Given the description of an element on the screen output the (x, y) to click on. 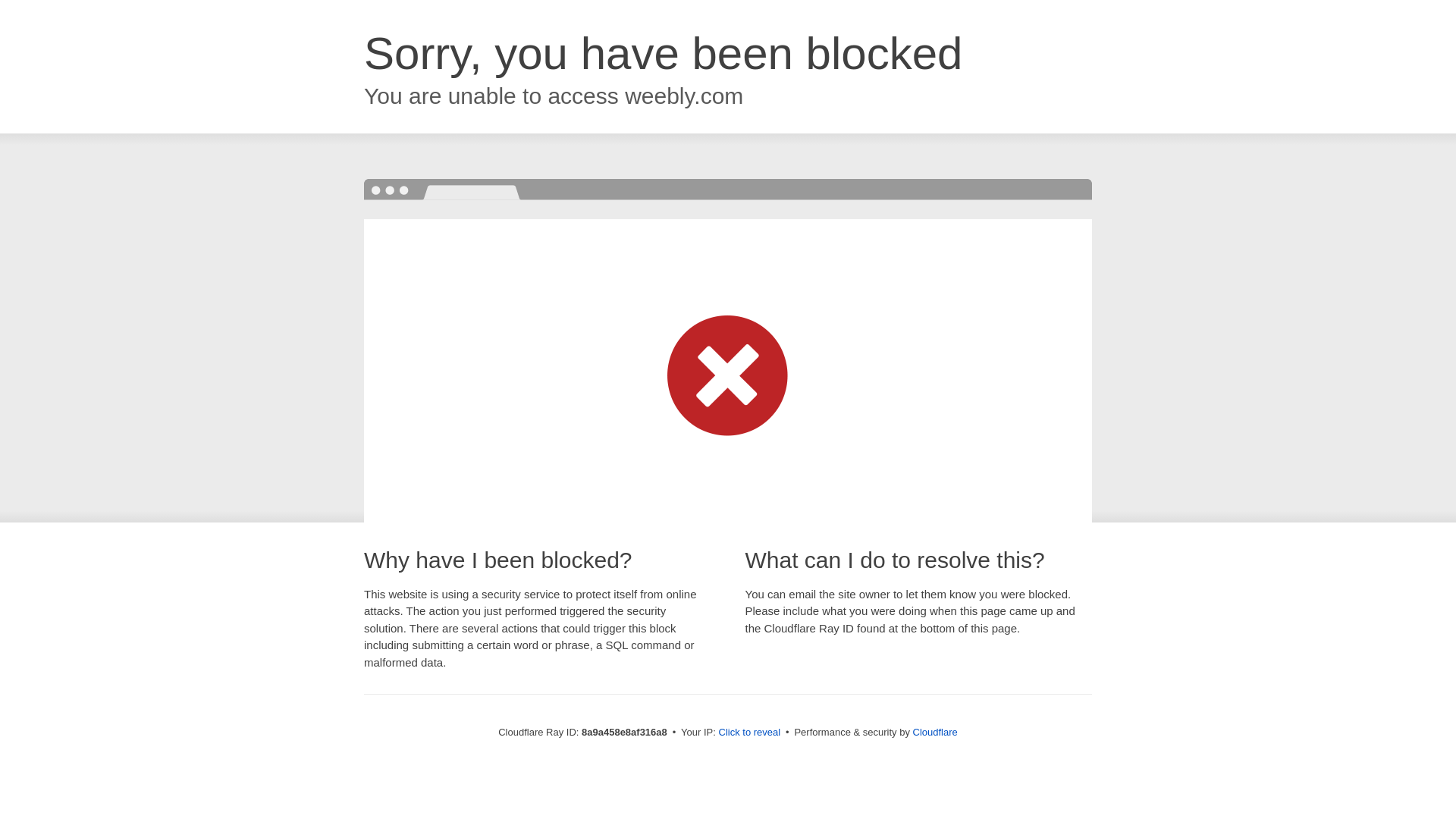
Cloudflare (935, 731)
Click to reveal (749, 732)
